Given the description of an element on the screen output the (x, y) to click on. 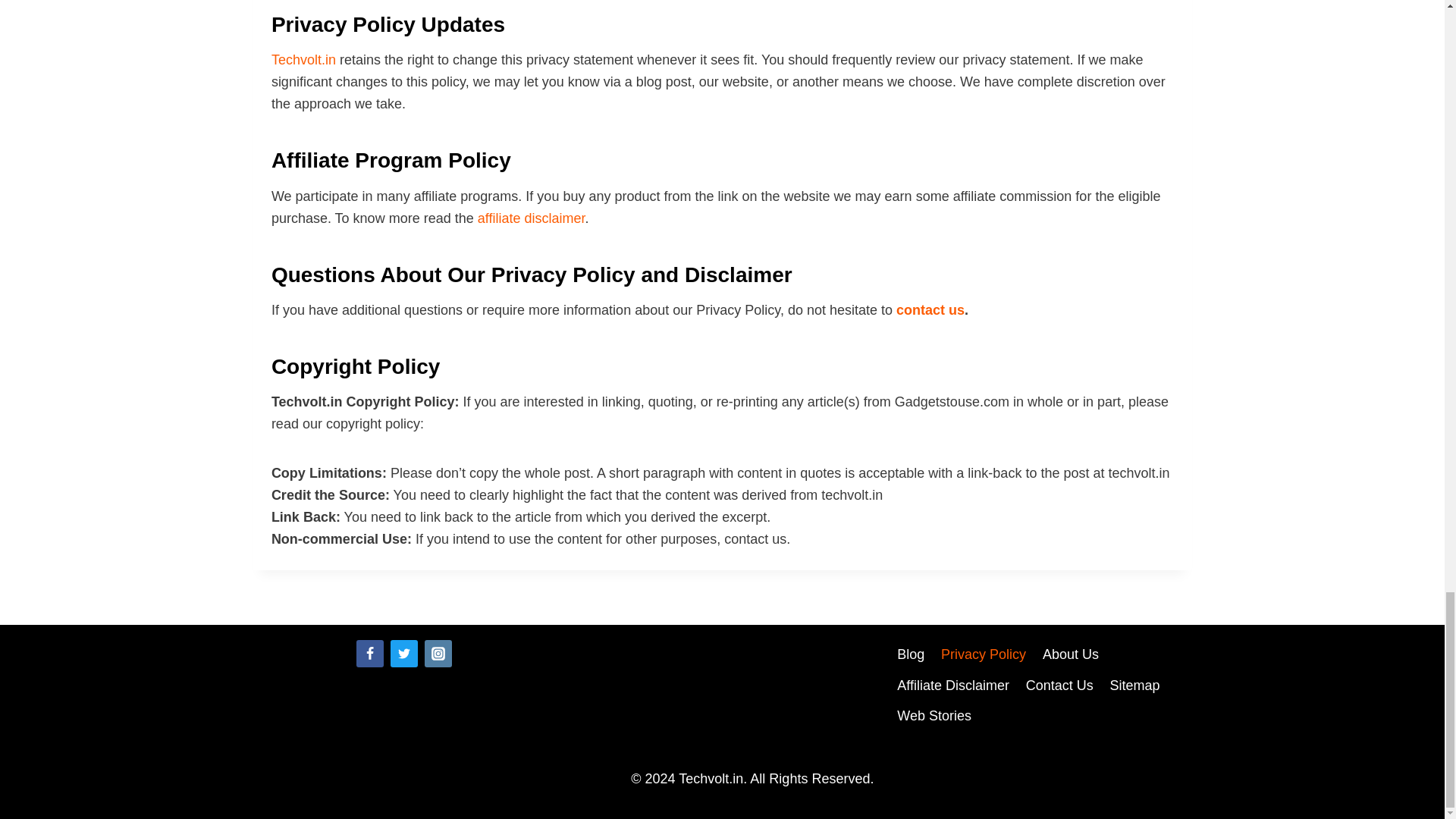
Sitemap (1135, 685)
Privacy Policy (983, 654)
Affiliate Disclaimer (952, 685)
Techvolt.in (303, 59)
contact us (929, 309)
Web Stories (933, 716)
Blog (910, 654)
Contact Us (1059, 685)
affiliate disclaimer (531, 218)
About Us (1069, 654)
